Given the description of an element on the screen output the (x, y) to click on. 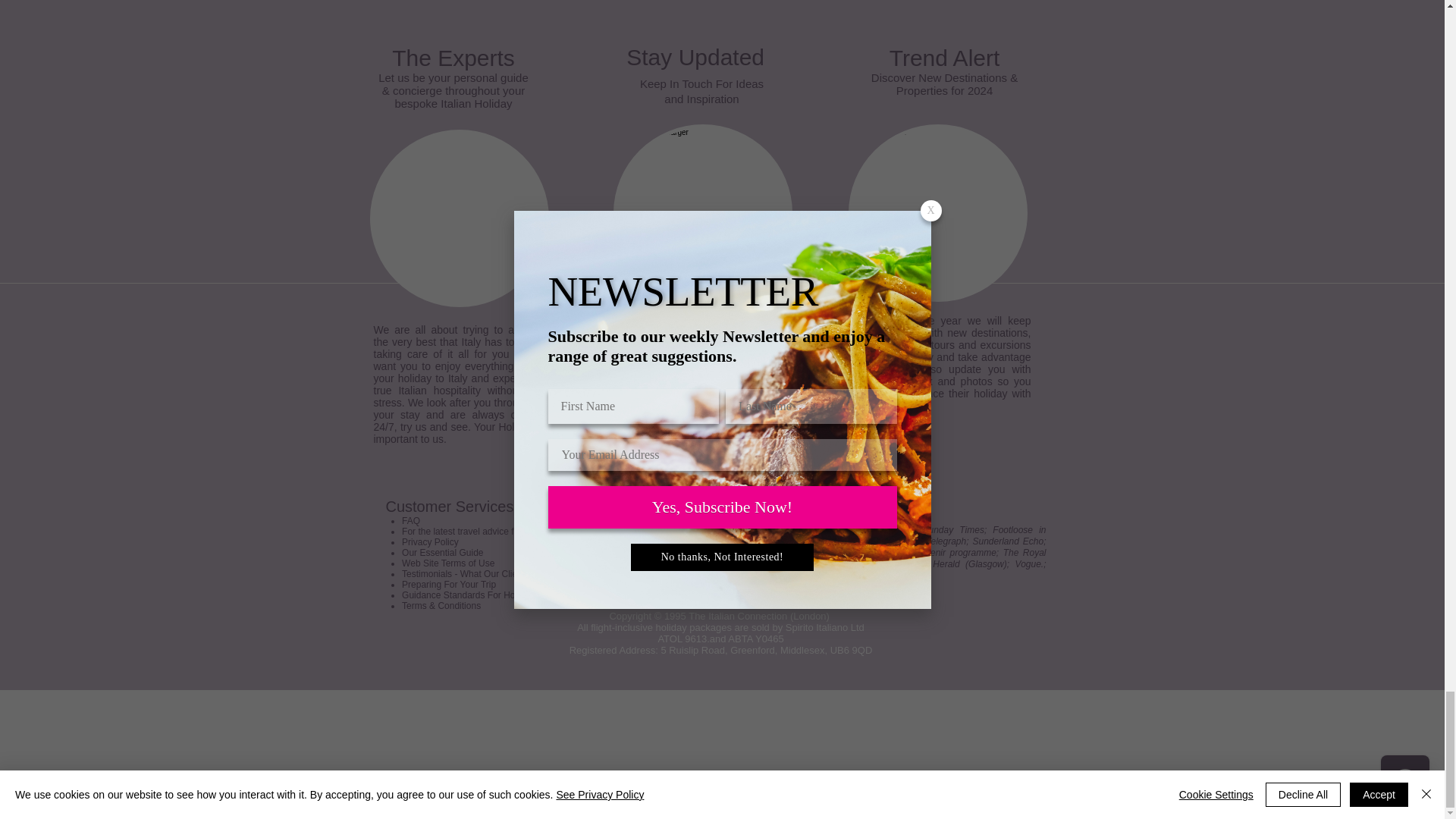
Our Essential Guide (442, 552)
Privacy Policy (429, 542)
FAQ (410, 520)
click here (588, 531)
twitter (648, 369)
Web Site Terms of Use (448, 562)
facebook (758, 357)
